Given the description of an element on the screen output the (x, y) to click on. 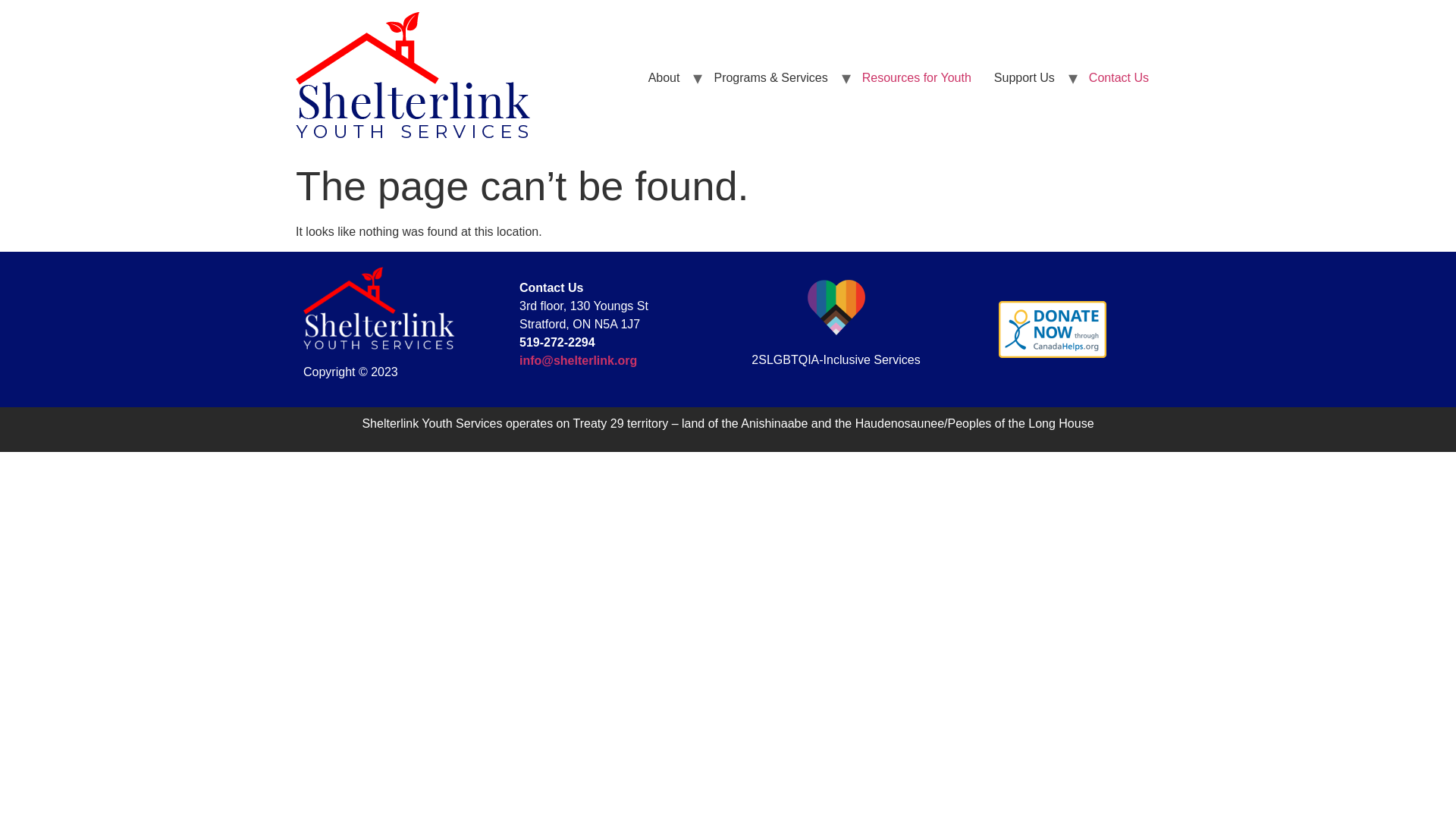
About (664, 77)
Contact Us (1118, 77)
donate-canada-helps-02 (1051, 329)
Support Us (1023, 77)
Resources for Youth (916, 77)
